Given the description of an element on the screen output the (x, y) to click on. 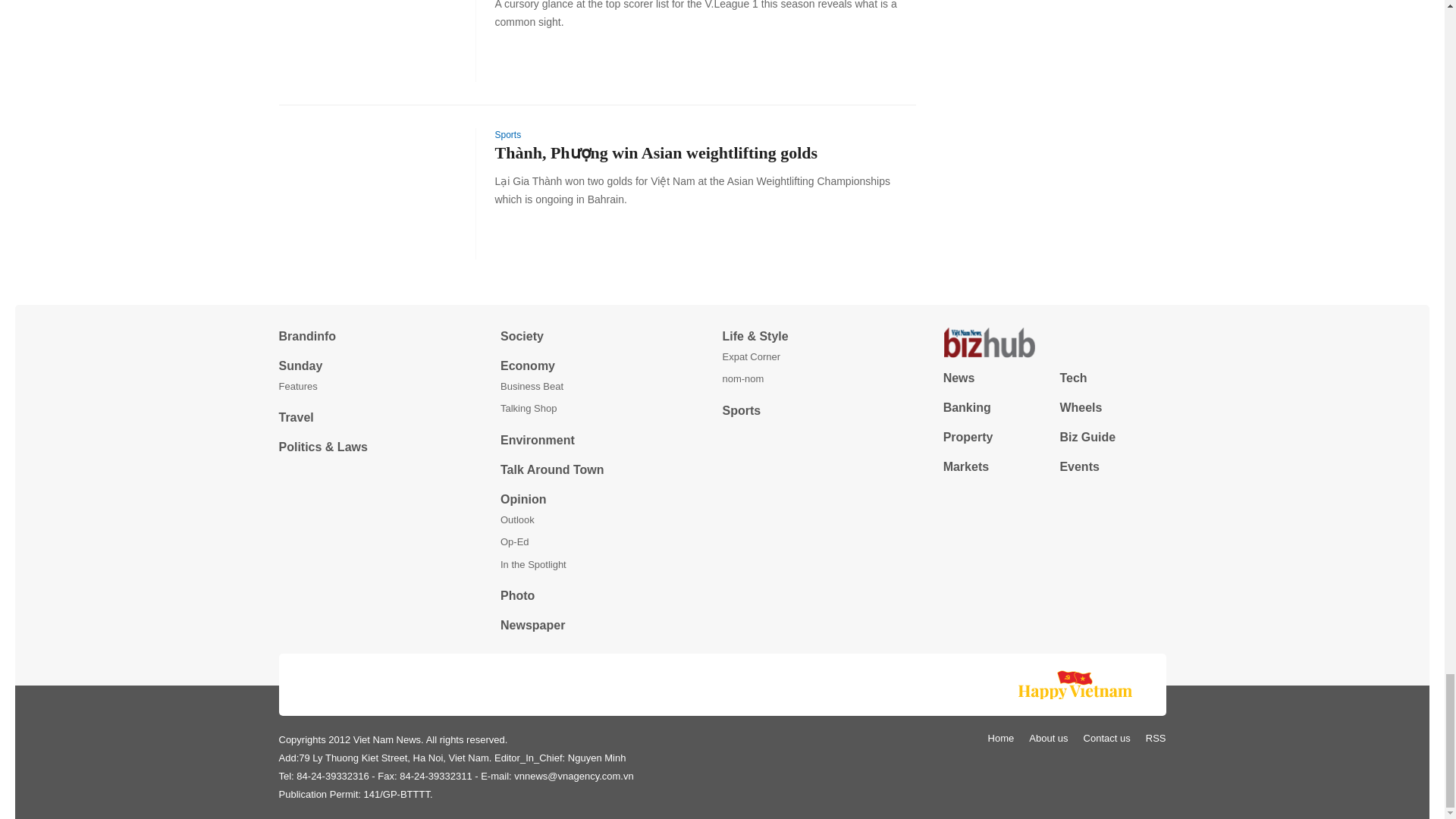
bizhub (1054, 342)
